Given the description of an element on the screen output the (x, y) to click on. 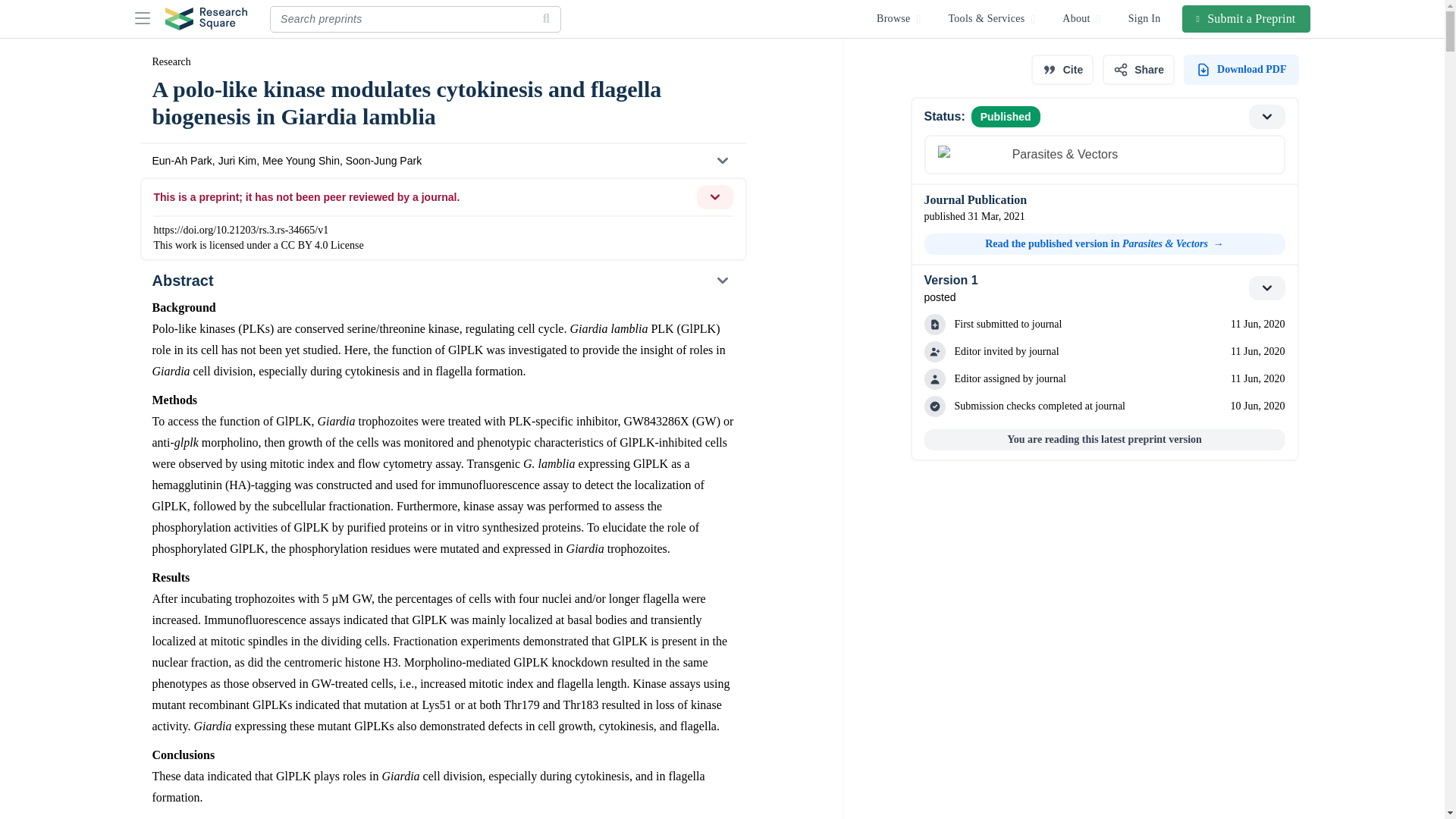
Sign In (1144, 18)
Submit a Preprint (1246, 18)
Eun-Ah Park, Juri Kim, Mee Young Shin, Soon-Jung Park (442, 160)
Abstract (442, 280)
